Given the description of an element on the screen output the (x, y) to click on. 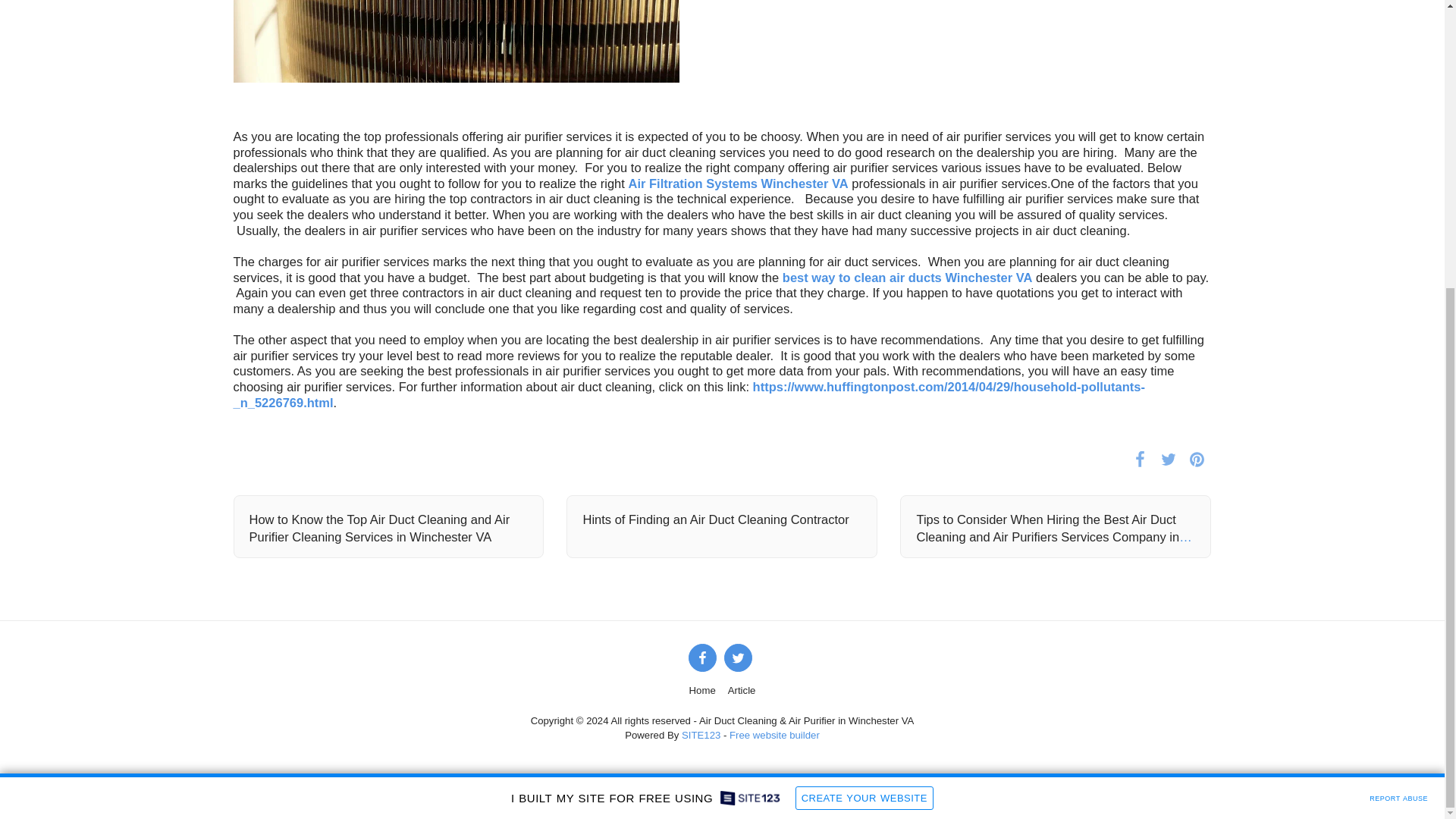
Share on Facebook (1139, 458)
Home (702, 690)
Article (741, 690)
Free website builder (774, 735)
Tweet (1168, 458)
best way to clean air ducts Winchester VA (907, 277)
